Given the description of an element on the screen output the (x, y) to click on. 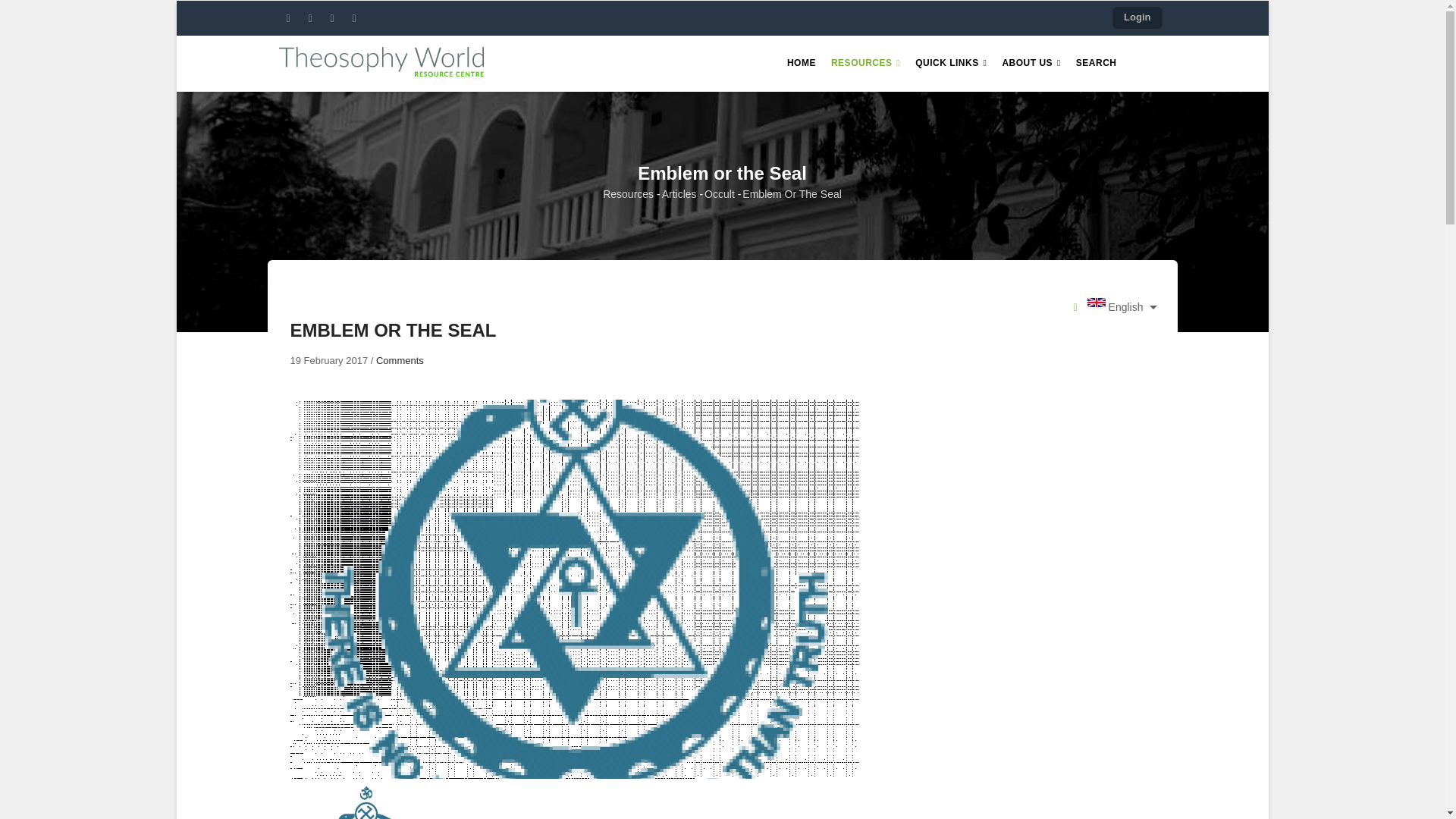
ABOUT US (1030, 63)
Articles (679, 193)
Occult (719, 193)
Home (381, 60)
QUICK LINKS (950, 63)
RESOURCES (865, 63)
Resources (627, 193)
